Given the description of an element on the screen output the (x, y) to click on. 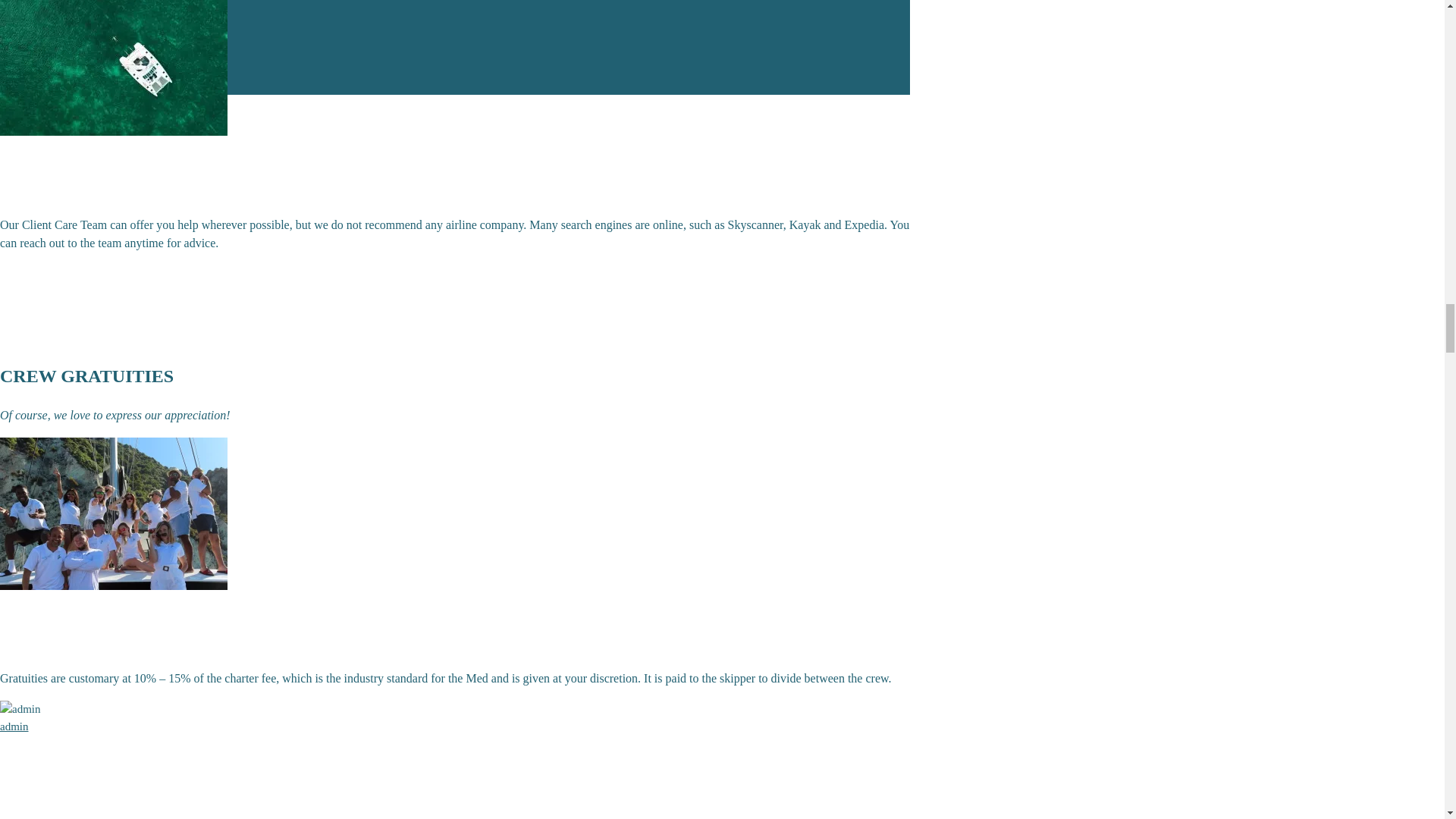
SEYCHELLES (122, 37)
